Given the description of an element on the screen output the (x, y) to click on. 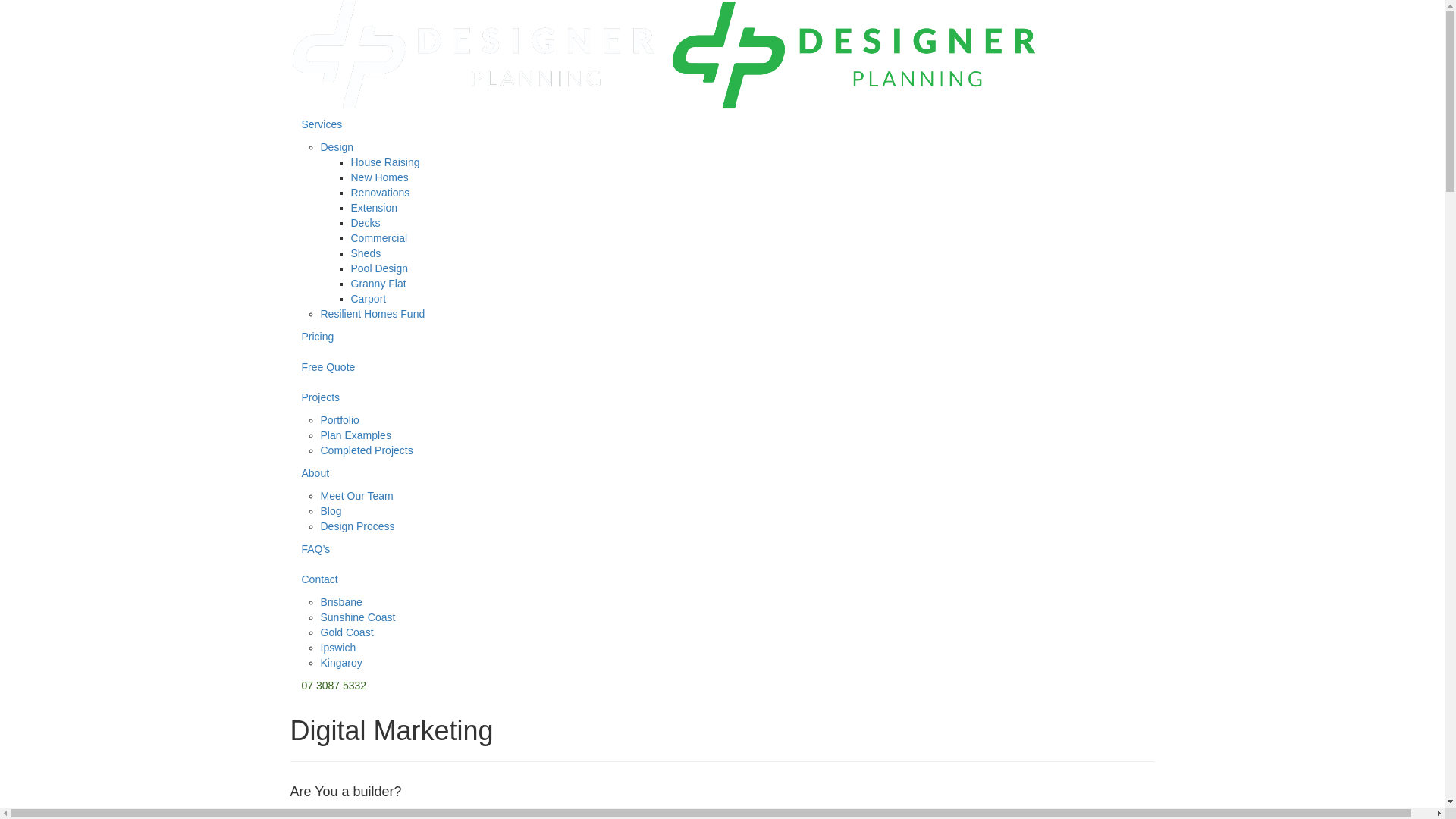
Resilient Homes Fund Element type: text (372, 313)
Renovations Element type: text (379, 192)
Design Process Element type: text (357, 526)
Projects Element type: text (721, 397)
Meet Our Team Element type: text (356, 495)
About Element type: text (721, 473)
House Raising Element type: text (384, 162)
Decks Element type: text (364, 222)
Blog Element type: text (330, 511)
Plan Examples Element type: text (355, 435)
07 3087 5332 Element type: text (721, 685)
Design Element type: text (336, 147)
Commercial Element type: text (378, 238)
Completed Projects Element type: text (366, 450)
Pricing Element type: text (721, 336)
Brisbane Element type: text (340, 602)
Portfolio Element type: text (339, 420)
Sheds Element type: text (365, 253)
Contact Element type: text (721, 579)
Free Quote Element type: text (721, 366)
Ipswich Element type: text (337, 647)
Granny Flat Element type: text (377, 283)
Sunshine Coast Element type: text (357, 617)
Extension Element type: text (373, 207)
Kingaroy Element type: text (340, 662)
Services Element type: text (721, 124)
Gold Coast Element type: text (346, 632)
New Homes Element type: text (378, 177)
Carport Element type: text (367, 298)
Pool Design Element type: text (378, 268)
